Given the description of an element on the screen output the (x, y) to click on. 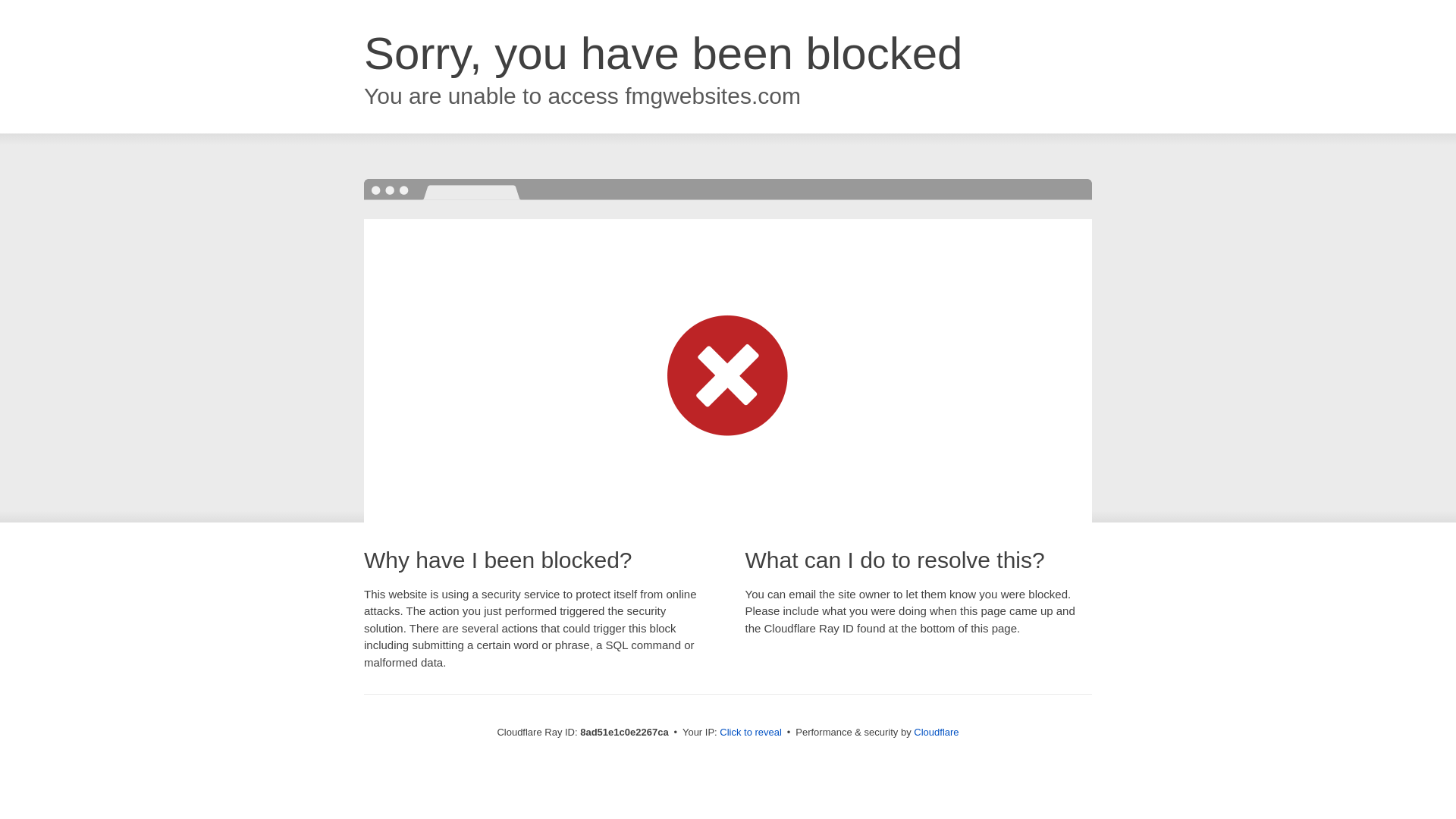
Cloudflare (936, 731)
Click to reveal (750, 732)
